Given the description of an element on the screen output the (x, y) to click on. 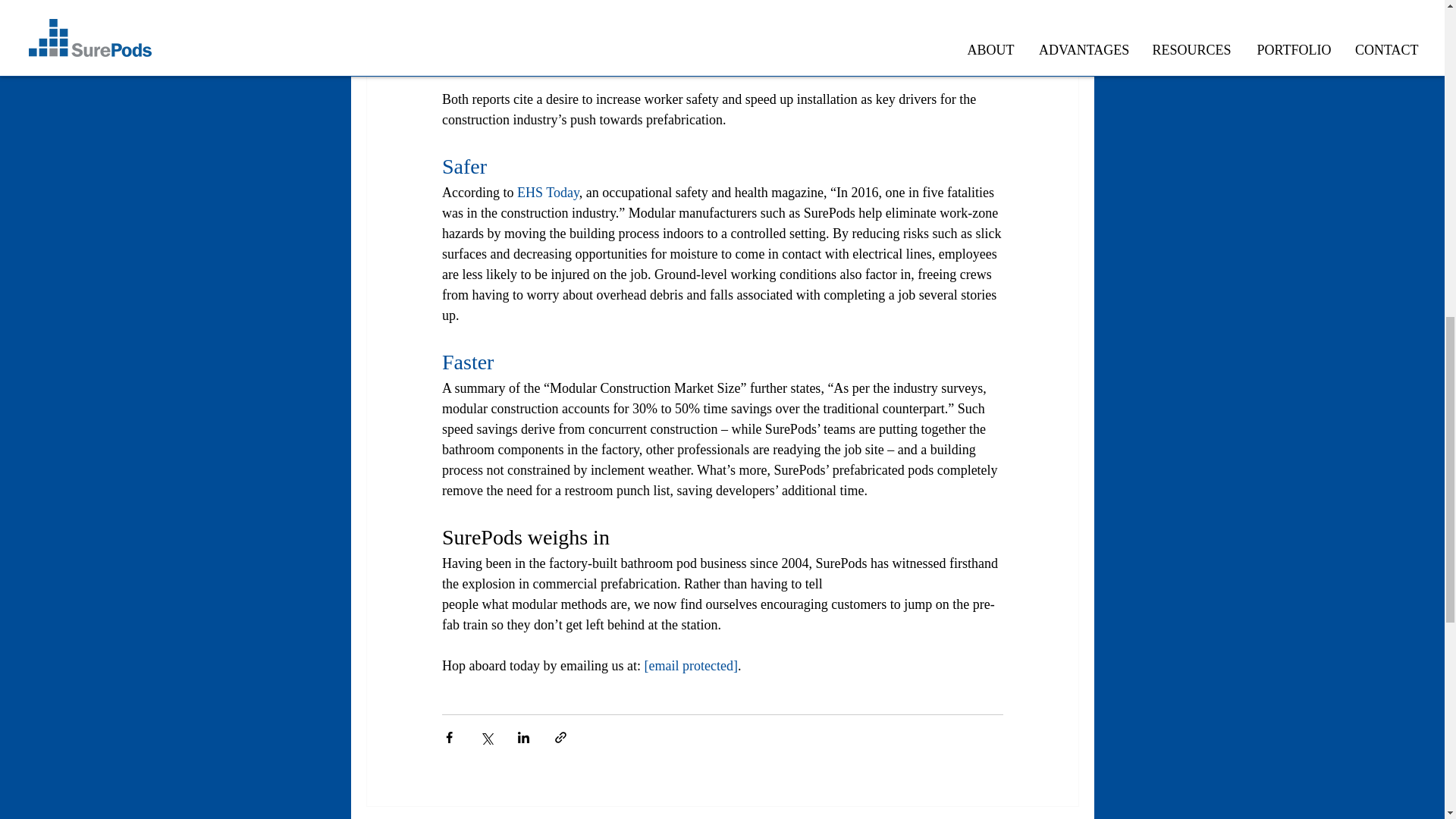
Faster (467, 361)
Safer (463, 166)
EHS Today (547, 192)
